Given the description of an element on the screen output the (x, y) to click on. 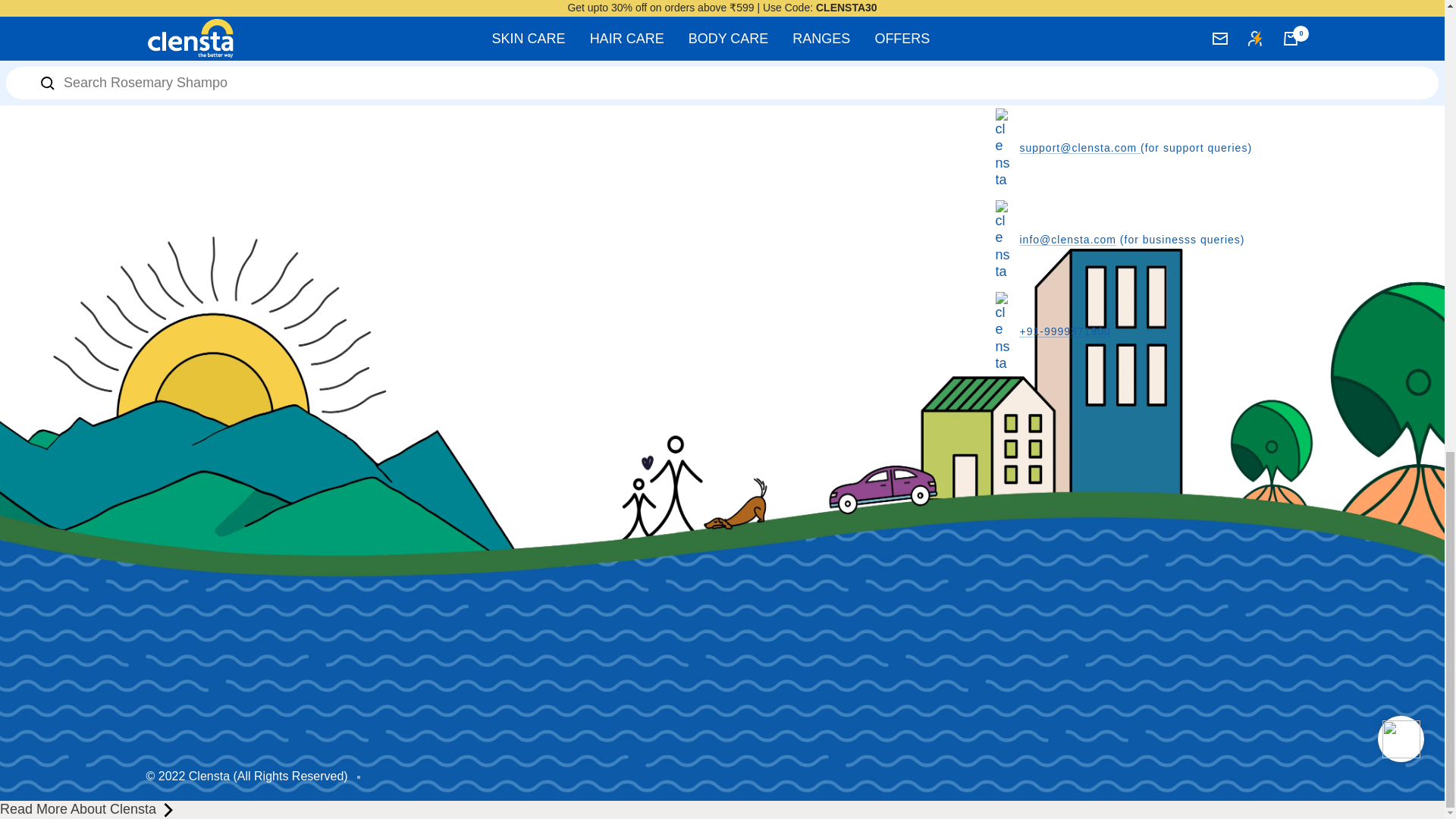
Careers (620, 94)
Wellness (483, 8)
Track my Order (645, 50)
Blogs (614, 8)
Bulk Orders (634, 28)
Contact (620, 72)
